Given the description of an element on the screen output the (x, y) to click on. 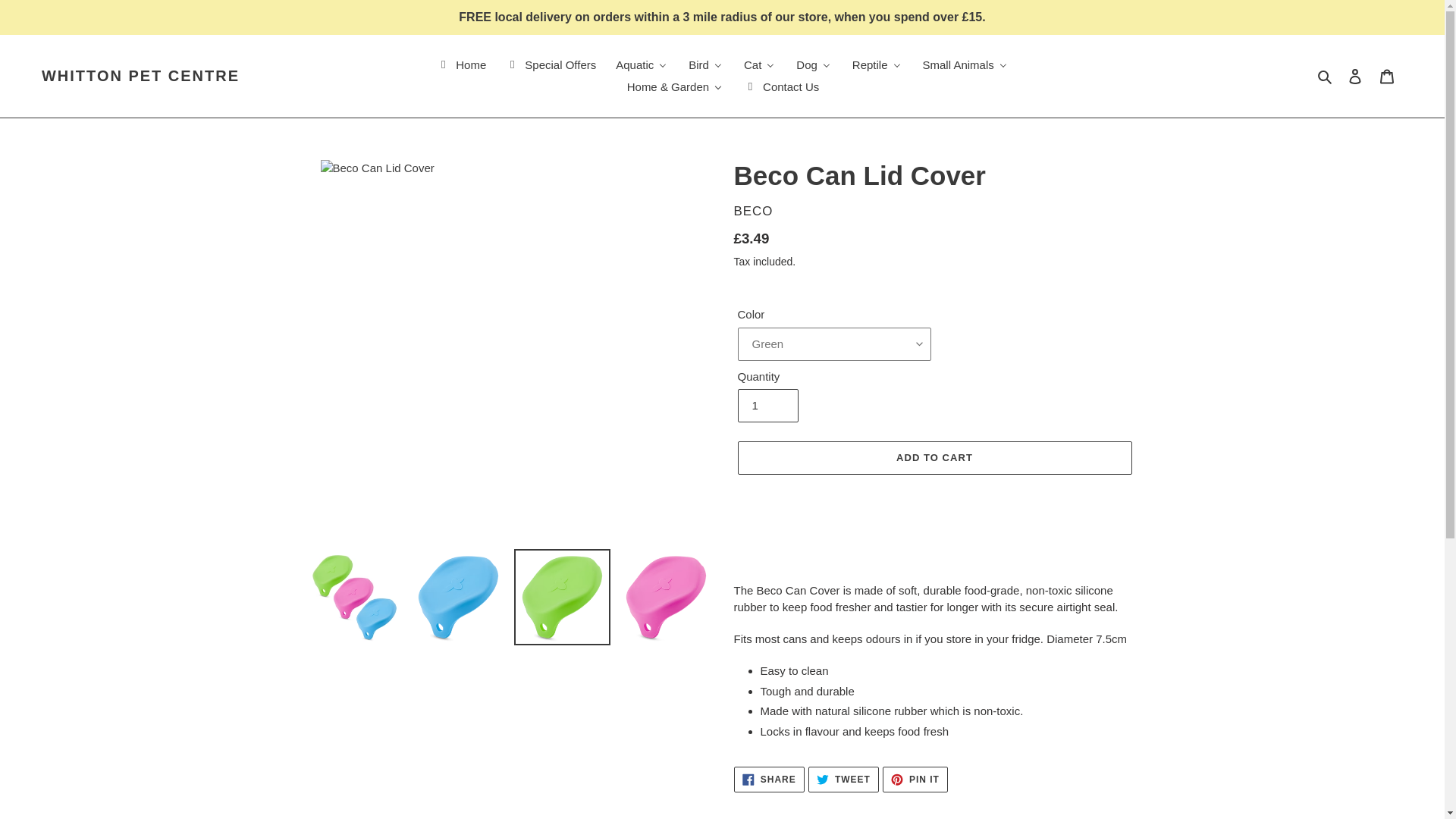
1 (766, 405)
Special Offers (550, 65)
Bird (705, 65)
Aquatic (641, 65)
Home (460, 65)
WHITTON PET CENTRE (141, 75)
